Given the description of an element on the screen output the (x, y) to click on. 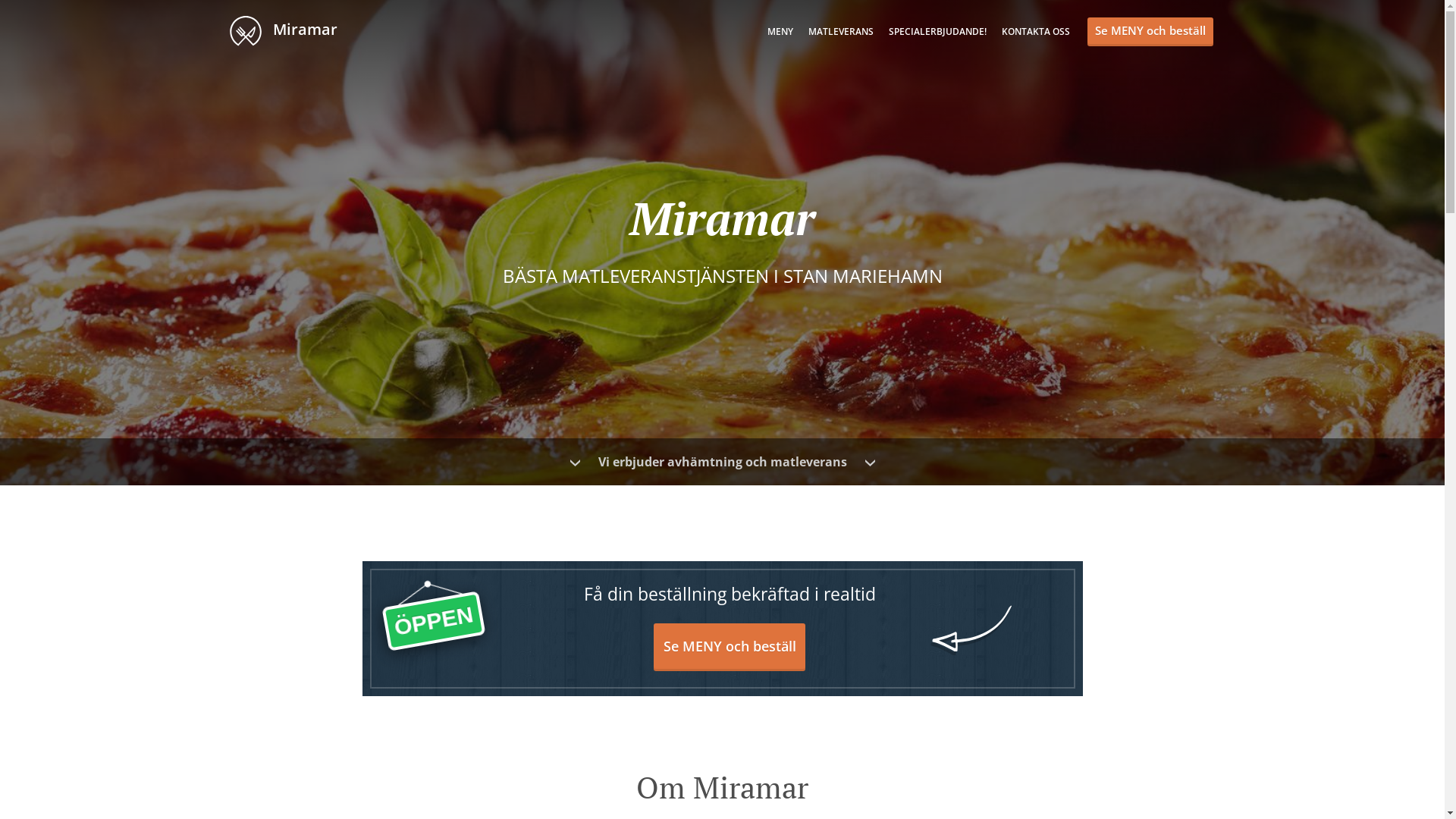
KONTAKTA OSS Element type: text (1035, 31)
 Miramar Element type: text (290, 30)
MATLEVERANS Element type: text (840, 31)
MENY Element type: text (780, 31)
SPECIALERBJUDANDE! Element type: text (937, 31)
